Given the description of an element on the screen output the (x, y) to click on. 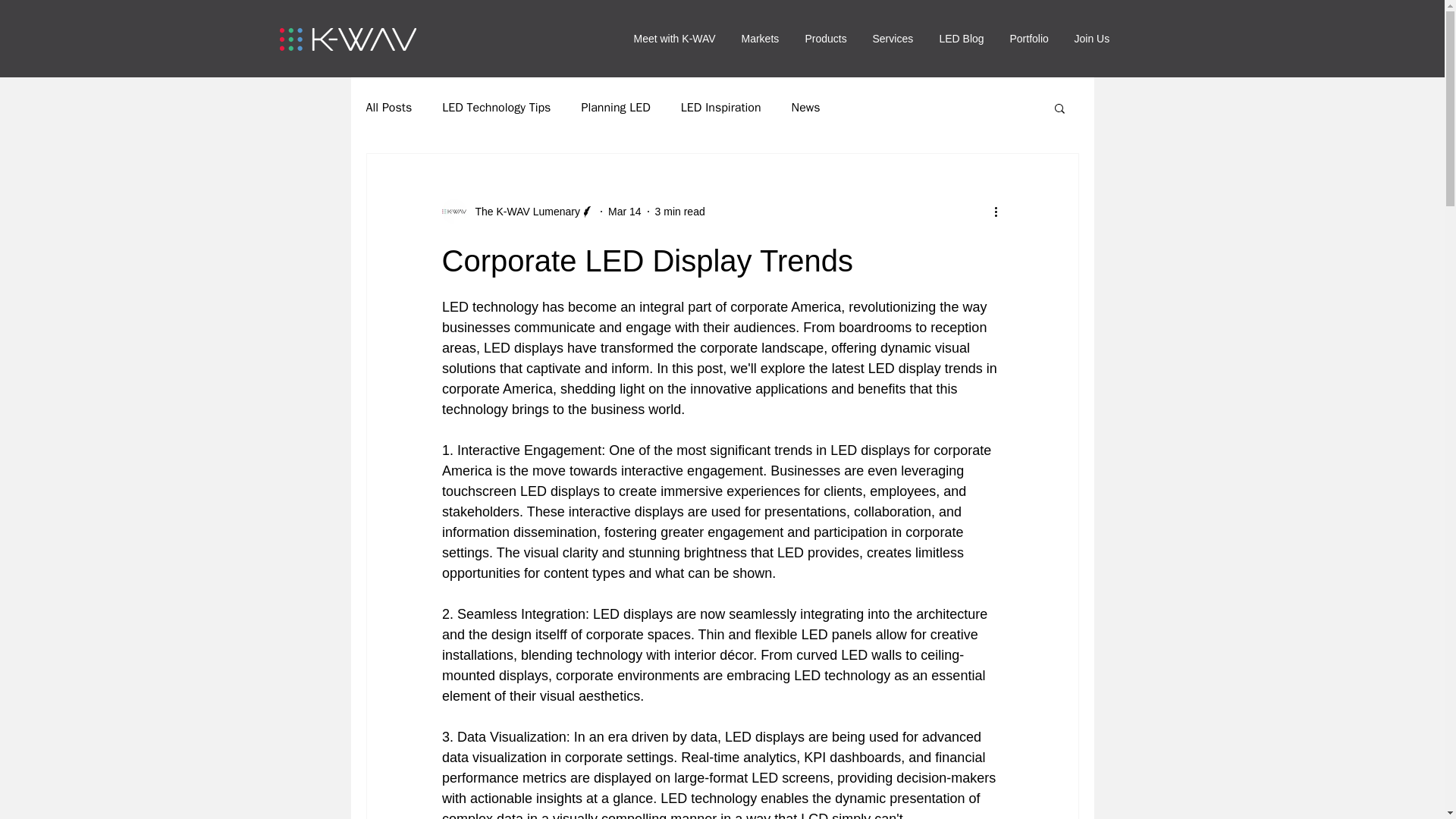
Join Us (1093, 38)
The K-WAV Lumenary (517, 211)
LED Blog (963, 38)
News (806, 107)
Portfolio (1029, 38)
Meet with K-WAV (675, 38)
LED Technology Tips (496, 107)
Markets (761, 38)
LED Inspiration (721, 107)
3 min read (679, 210)
Products (826, 38)
Services (894, 38)
The K-WAV Lumenary  (522, 211)
All Posts (388, 107)
Mar 14 (625, 210)
